Given the description of an element on the screen output the (x, y) to click on. 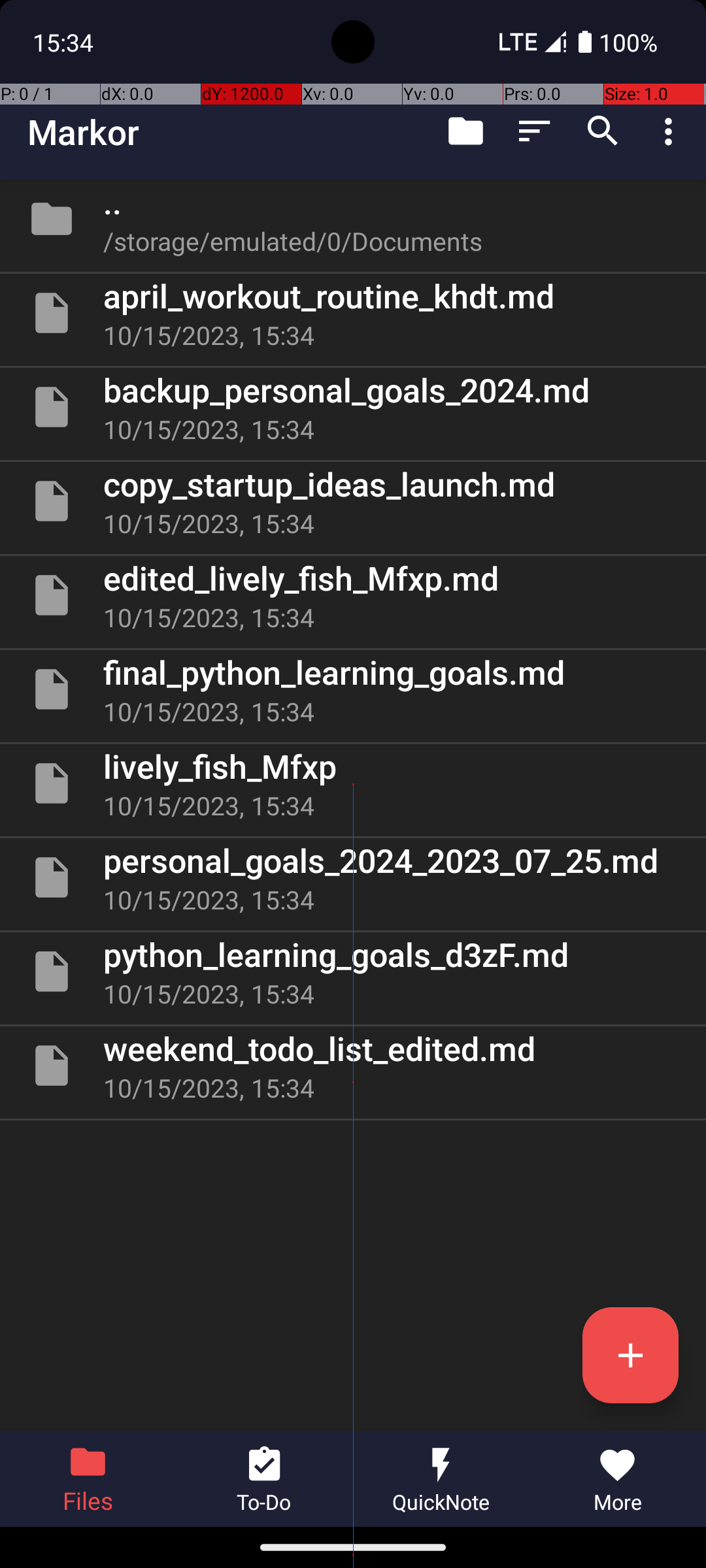
File april_workout_routine_khdt.md  Element type: android.widget.LinearLayout (353, 312)
File backup_personal_goals_2024.md  Element type: android.widget.LinearLayout (353, 406)
File copy_startup_ideas_launch.md  Element type: android.widget.LinearLayout (353, 500)
File edited_lively_fish_Mfxp.md  Element type: android.widget.LinearLayout (353, 594)
File final_python_learning_goals.md  Element type: android.widget.LinearLayout (353, 689)
File lively_fish_Mfxp  Element type: android.widget.LinearLayout (353, 783)
File personal_goals_2024_2023_07_25.md  Element type: android.widget.LinearLayout (353, 877)
File python_learning_goals_d3zF.md  Element type: android.widget.LinearLayout (353, 971)
File weekend_todo_list_edited.md  Element type: android.widget.LinearLayout (353, 1065)
